Given the description of an element on the screen output the (x, y) to click on. 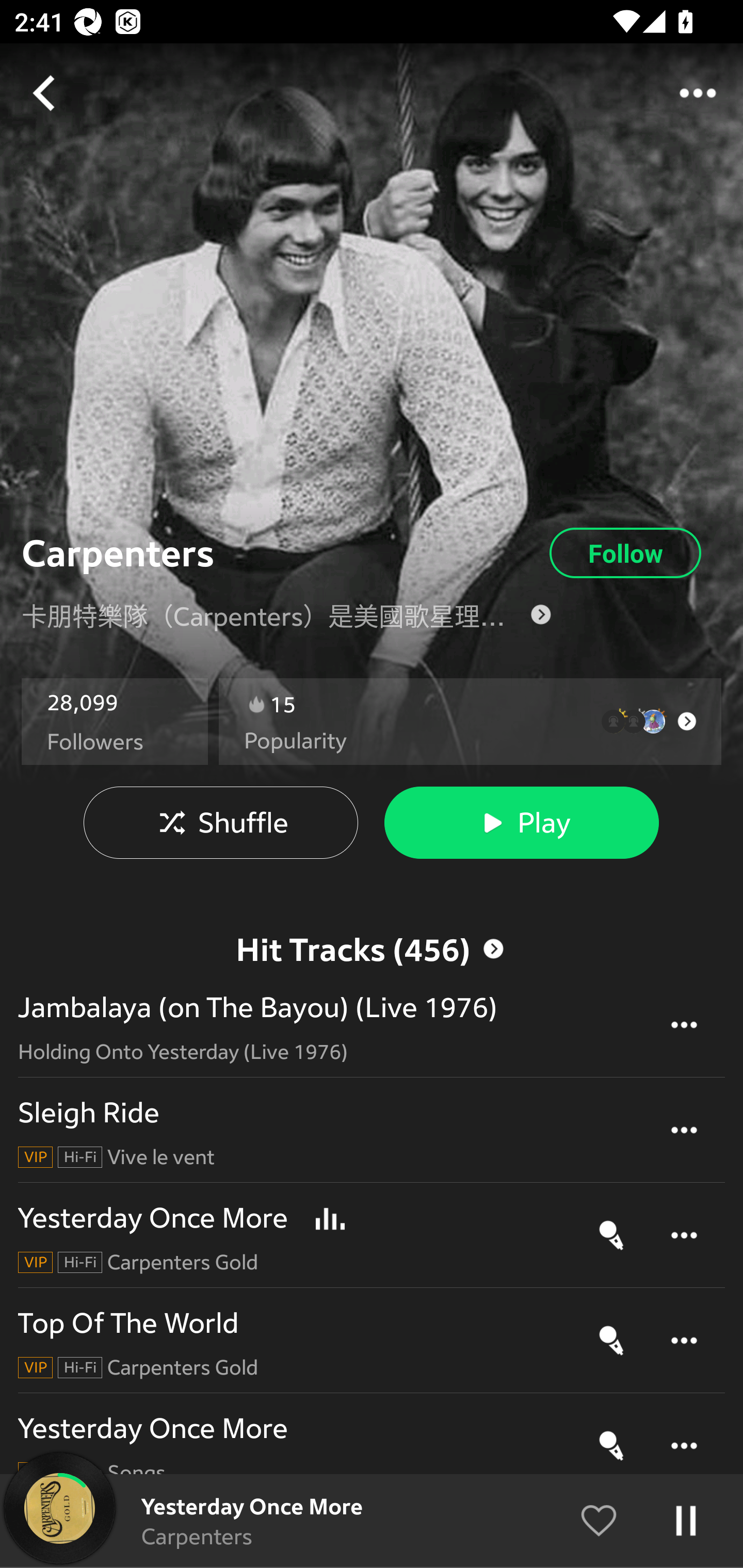
Follow (625, 553)
15 Popularity (469, 721)
Popularity (294, 740)
Shuffle (220, 823)
Play (521, 823)
Hit Tracks (456) (371, 949)
Sleigh Ride VIP Hi-Fi Vive le vent (371, 1130)
Yesterday Once More VIP Hi-Fi Carpenters Gold (371, 1235)
Top Of The World VIP Hi-Fi Carpenters Gold (371, 1340)
Yesterday Once More VIP Love Songs (371, 1446)
Yesterday Once More Carpenters (371, 1520)
